Given the description of an element on the screen output the (x, y) to click on. 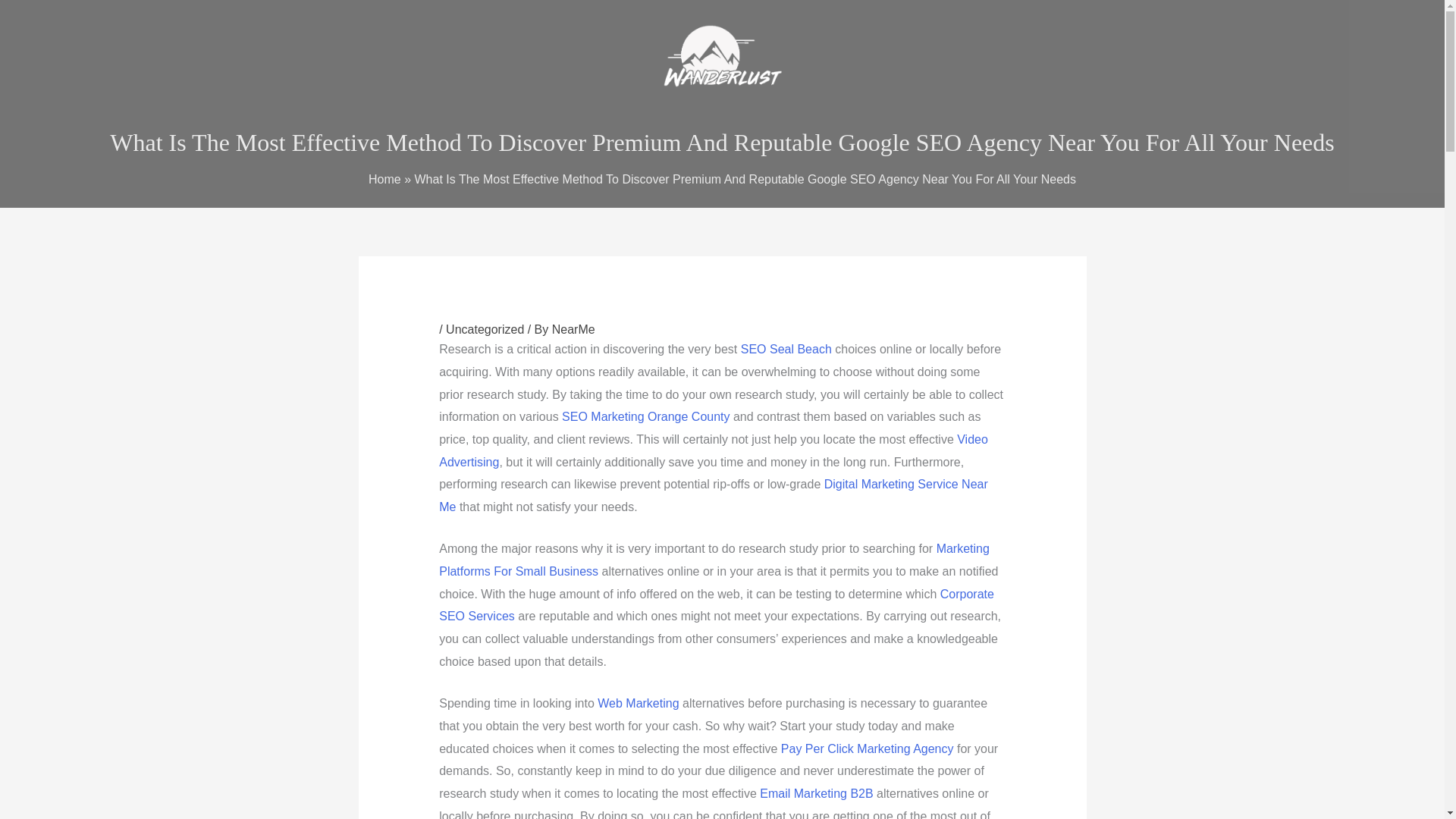
View all posts by NearMe (573, 328)
Pay Per Click Marketing Agency (866, 748)
Digital Marketing Service Near Me (713, 495)
Video Advertising (713, 450)
Uncategorized (484, 328)
SEO Seal Beach (786, 349)
Home (384, 178)
Marketing Platforms For Small Business (714, 560)
Web Marketing (637, 703)
SEO Marketing Orange County (645, 416)
Email Marketing B2B (816, 793)
Corporate SEO Services (716, 605)
NearMe (573, 328)
